Given the description of an element on the screen output the (x, y) to click on. 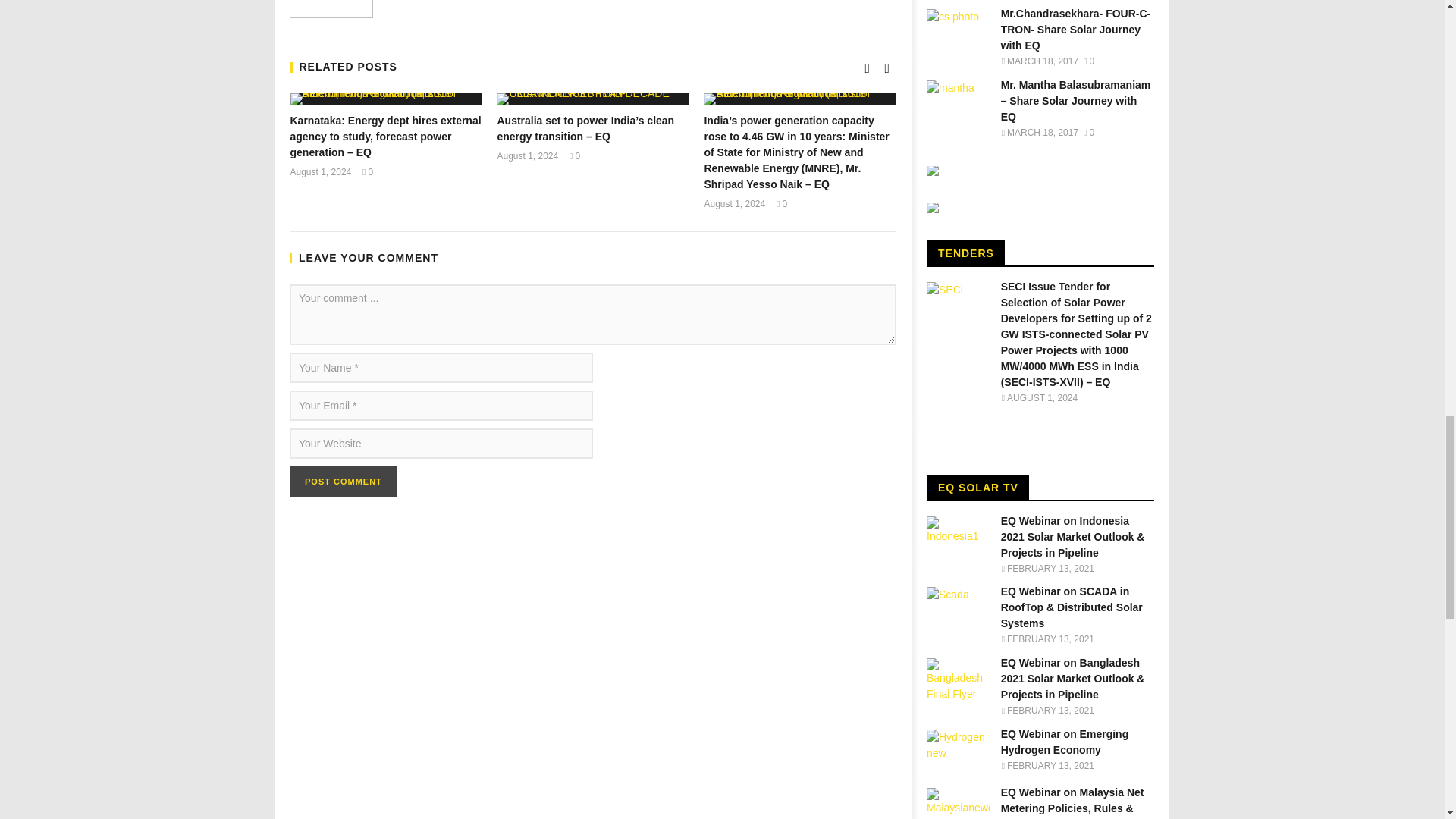
Post Comment (342, 481)
